Given the description of an element on the screen output the (x, y) to click on. 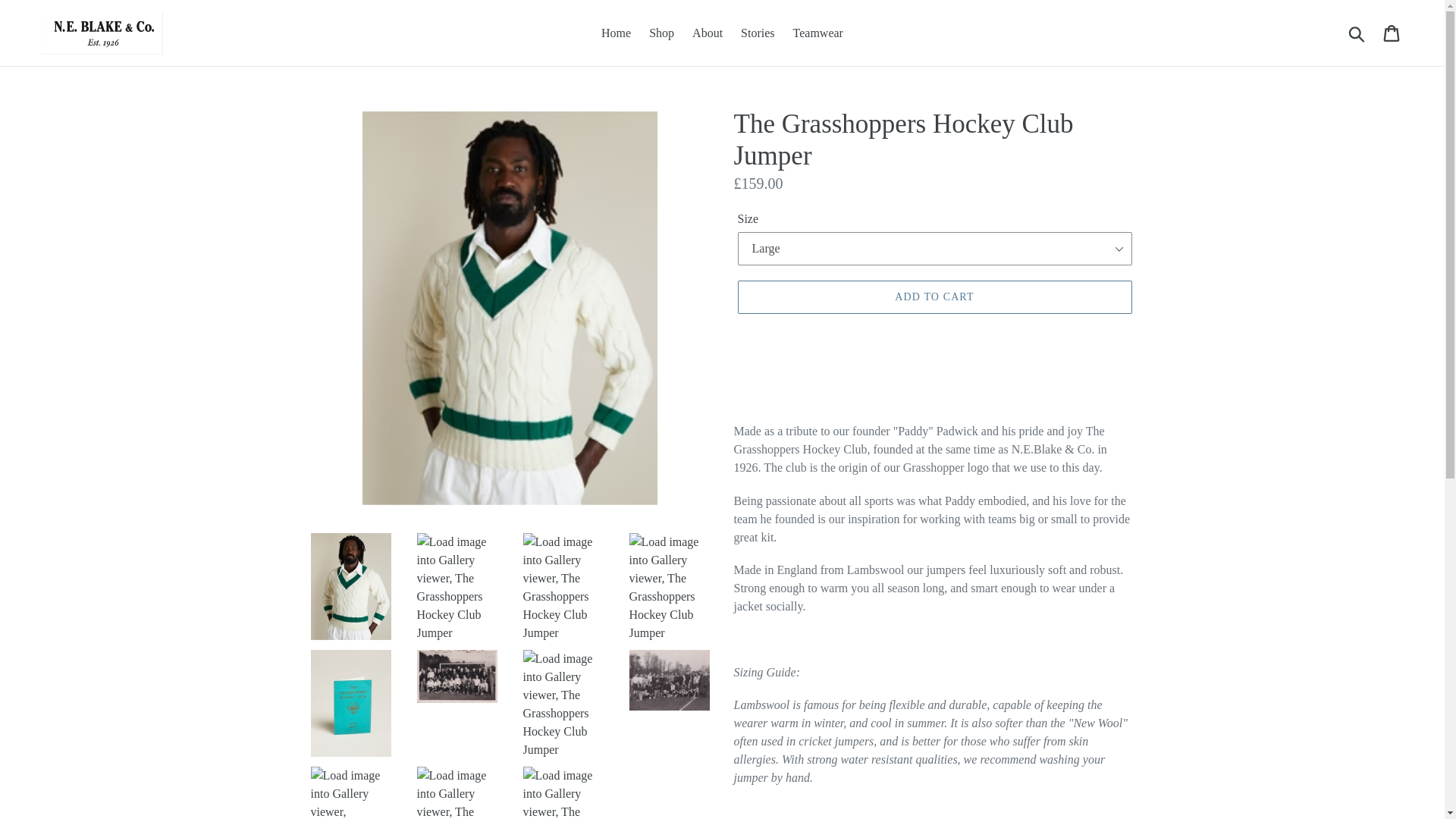
Submit (1357, 32)
Shop (661, 33)
Cart (1392, 32)
Home (616, 33)
Teamwear (818, 33)
ADD TO CART (933, 296)
Stories (757, 33)
About (707, 33)
